Given the description of an element on the screen output the (x, y) to click on. 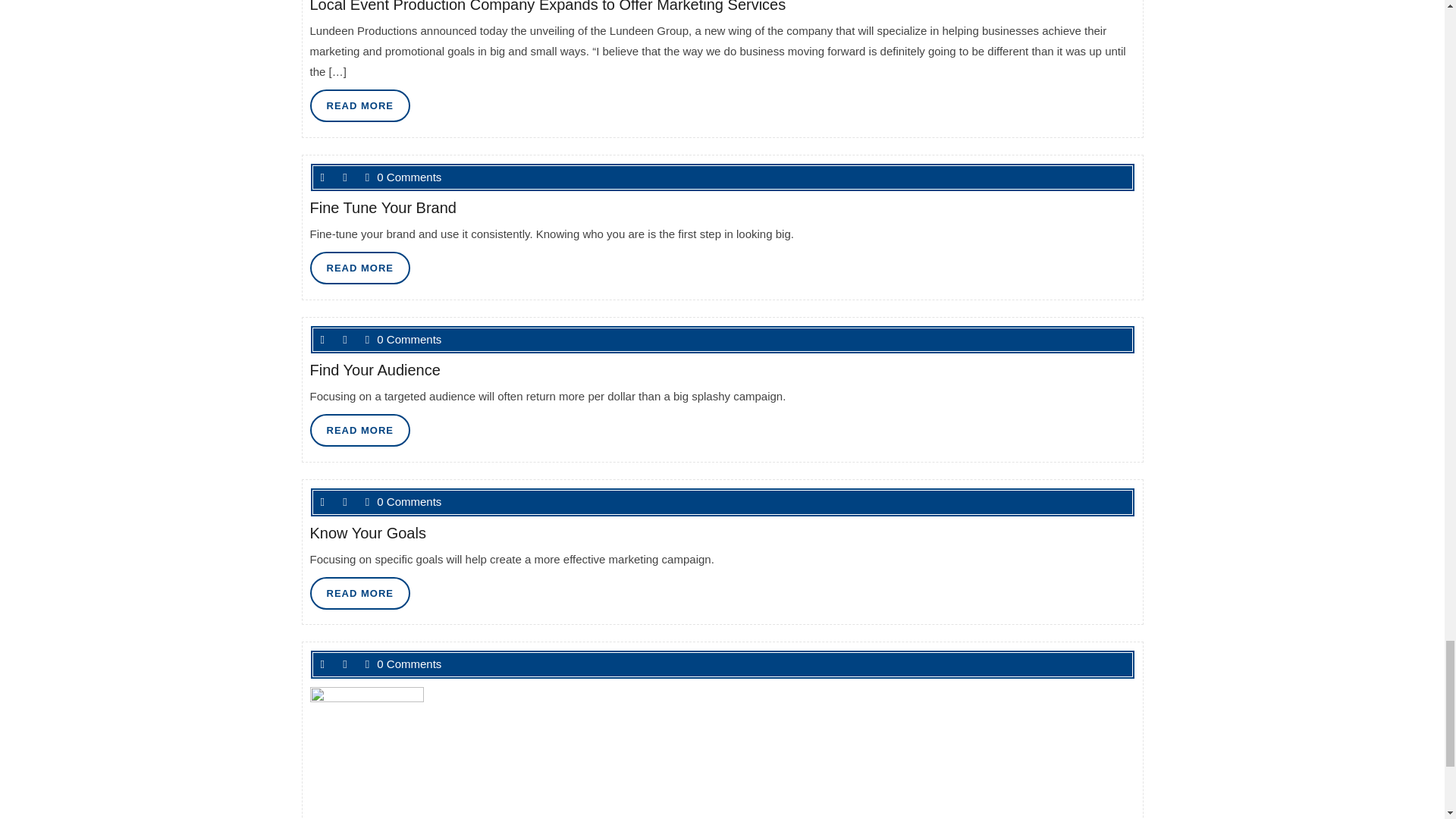
READ MORE (358, 430)
READ MORE (358, 593)
READ MORE (358, 105)
READ MORE (358, 267)
